Given the description of an element on the screen output the (x, y) to click on. 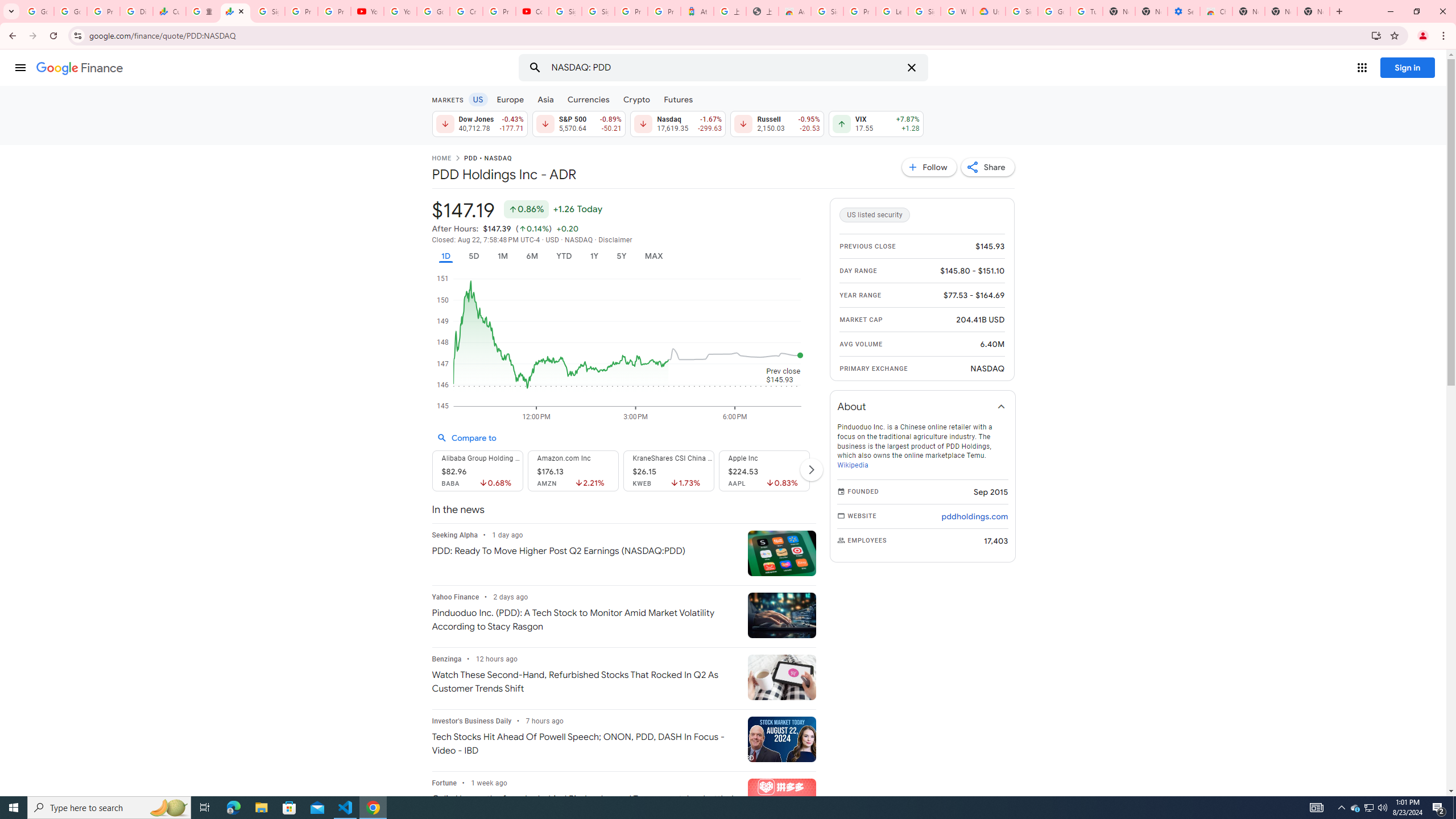
Sign in - Google Accounts (268, 11)
YTD (563, 255)
YouTube (400, 11)
Russell 2,150.03 Down by 0.95% -20.53 (777, 123)
Follow (929, 167)
Sign in - Google Accounts (598, 11)
6M (531, 255)
Crypto (636, 99)
